Given the description of an element on the screen output the (x, y) to click on. 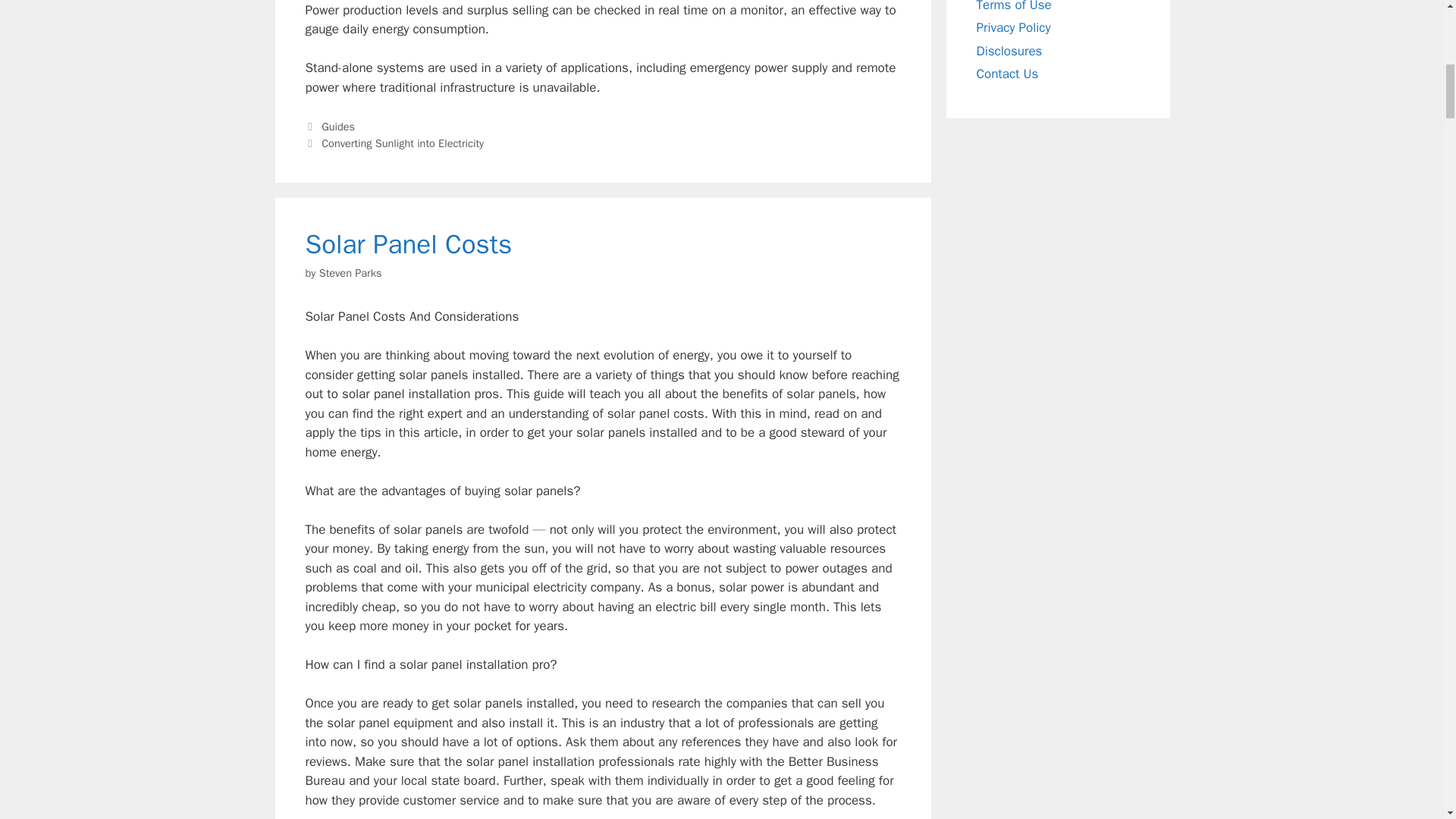
Guides (338, 126)
Converting Sunlight into Electricity (402, 142)
Solar Panel Costs (408, 244)
Steven Parks (349, 273)
View all posts by Steven Parks (349, 273)
